Given the description of an element on the screen output the (x, y) to click on. 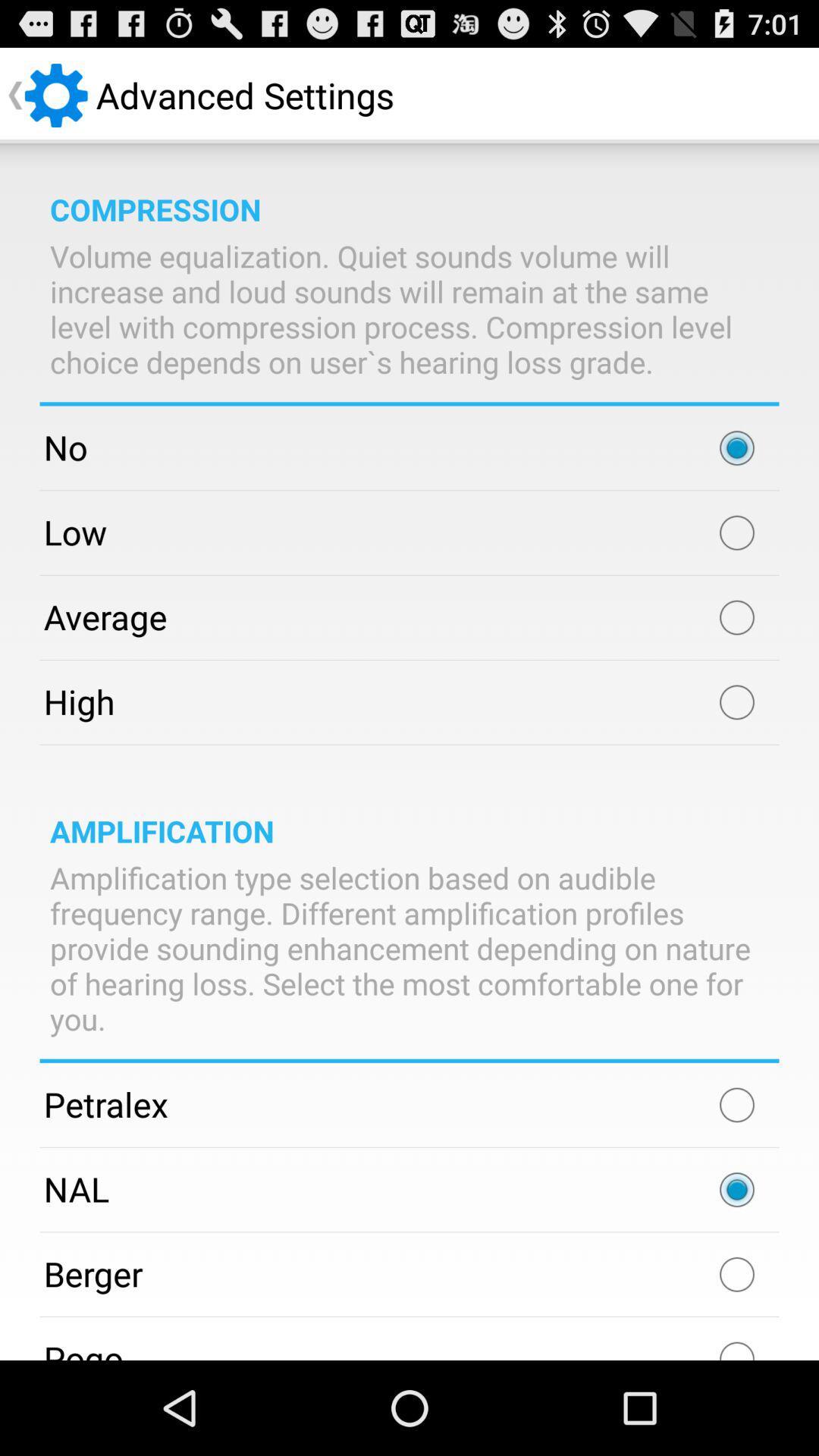
selects bubble (736, 617)
